Given the description of an element on the screen output the (x, y) to click on. 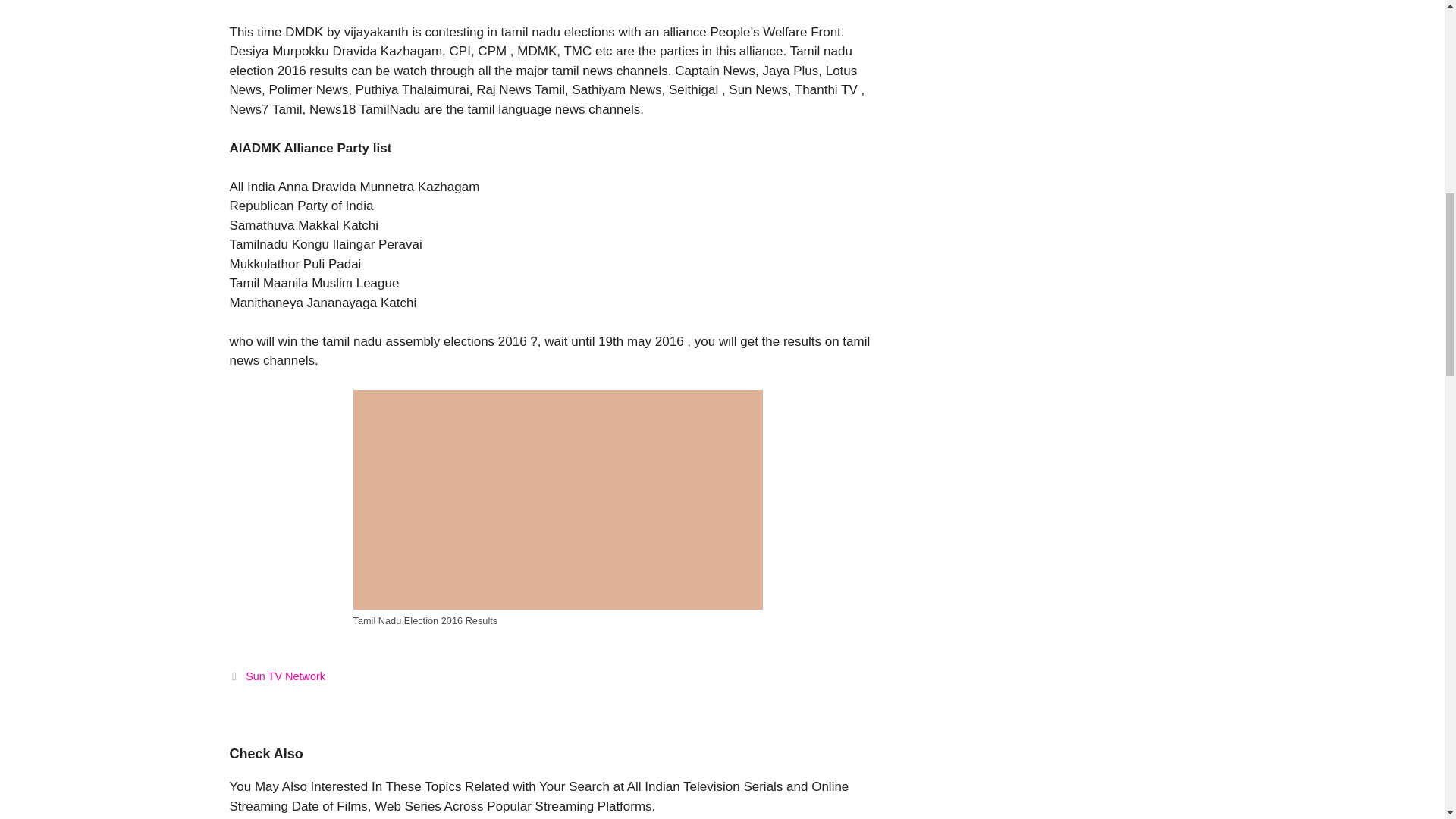
Sun TV Network (285, 676)
